Given the description of an element on the screen output the (x, y) to click on. 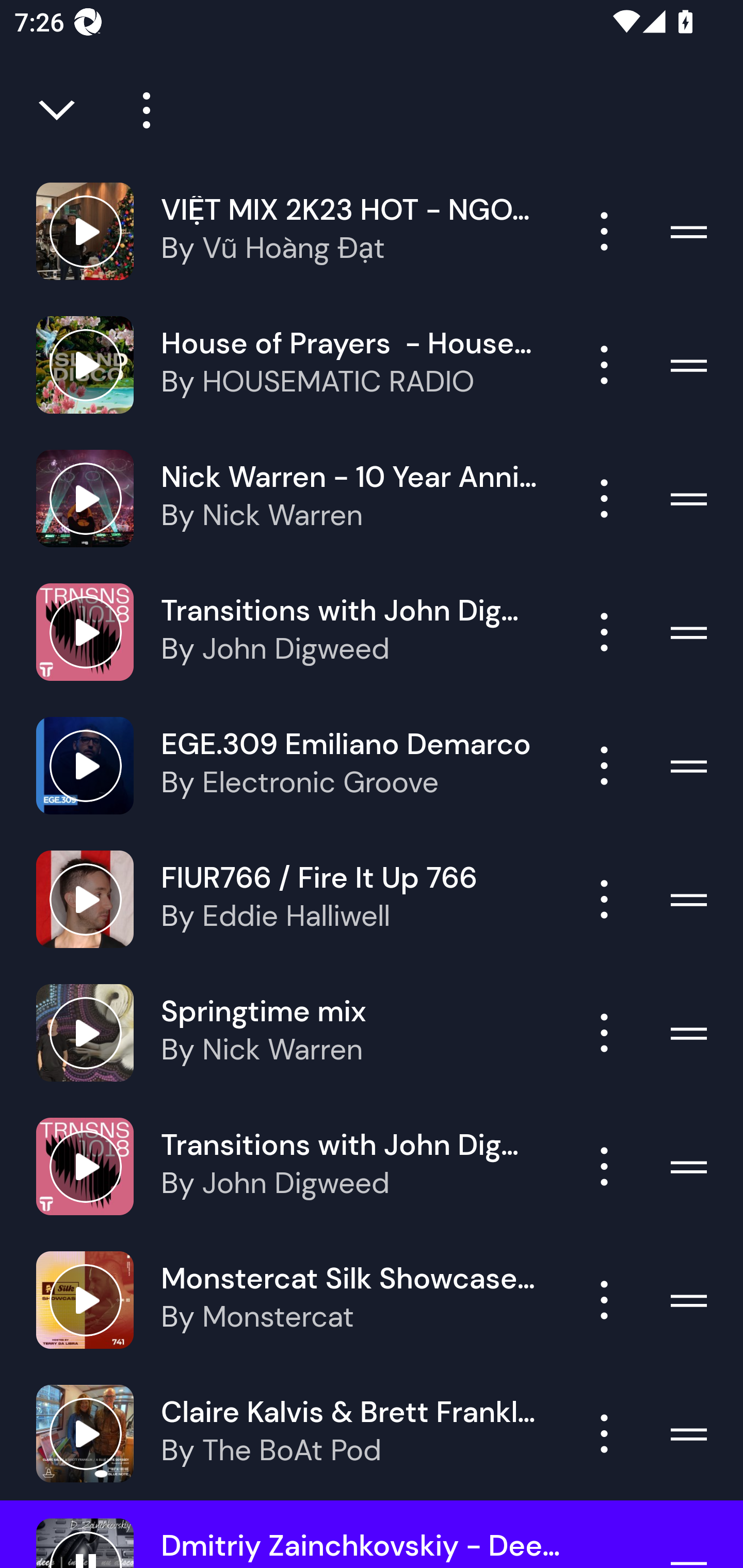
Close full player (58, 110)
Queue more options button (139, 110)
Show options button (604, 230)
Show options button (604, 364)
Show options button (604, 498)
Show options button (604, 631)
Show options button (604, 764)
Show options button (604, 898)
Show options button (604, 1032)
Show options button (604, 1166)
Show options button (604, 1432)
